Given the description of an element on the screen output the (x, y) to click on. 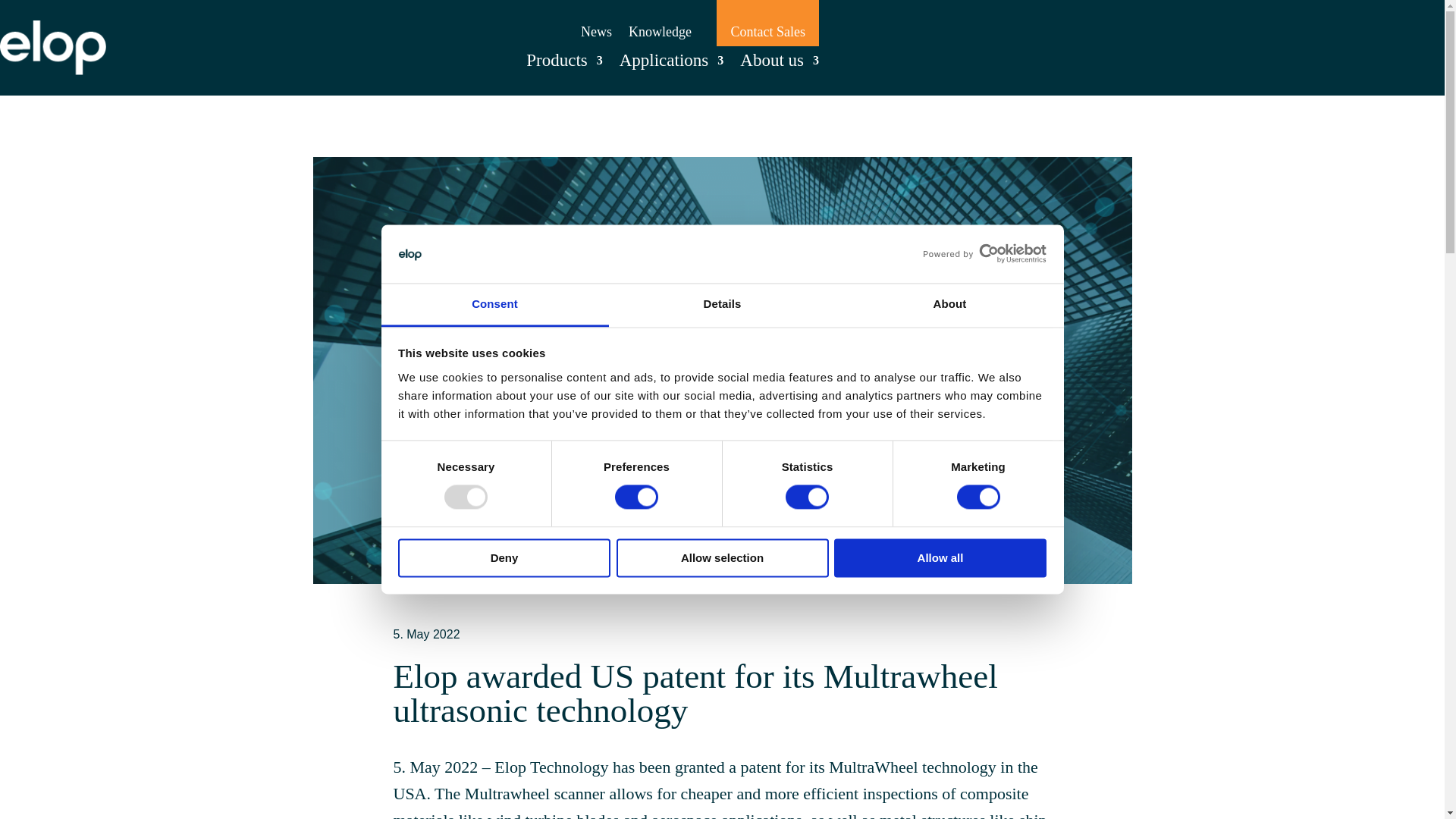
Consent (494, 304)
About (948, 304)
Details (721, 304)
